Given the description of an element on the screen output the (x, y) to click on. 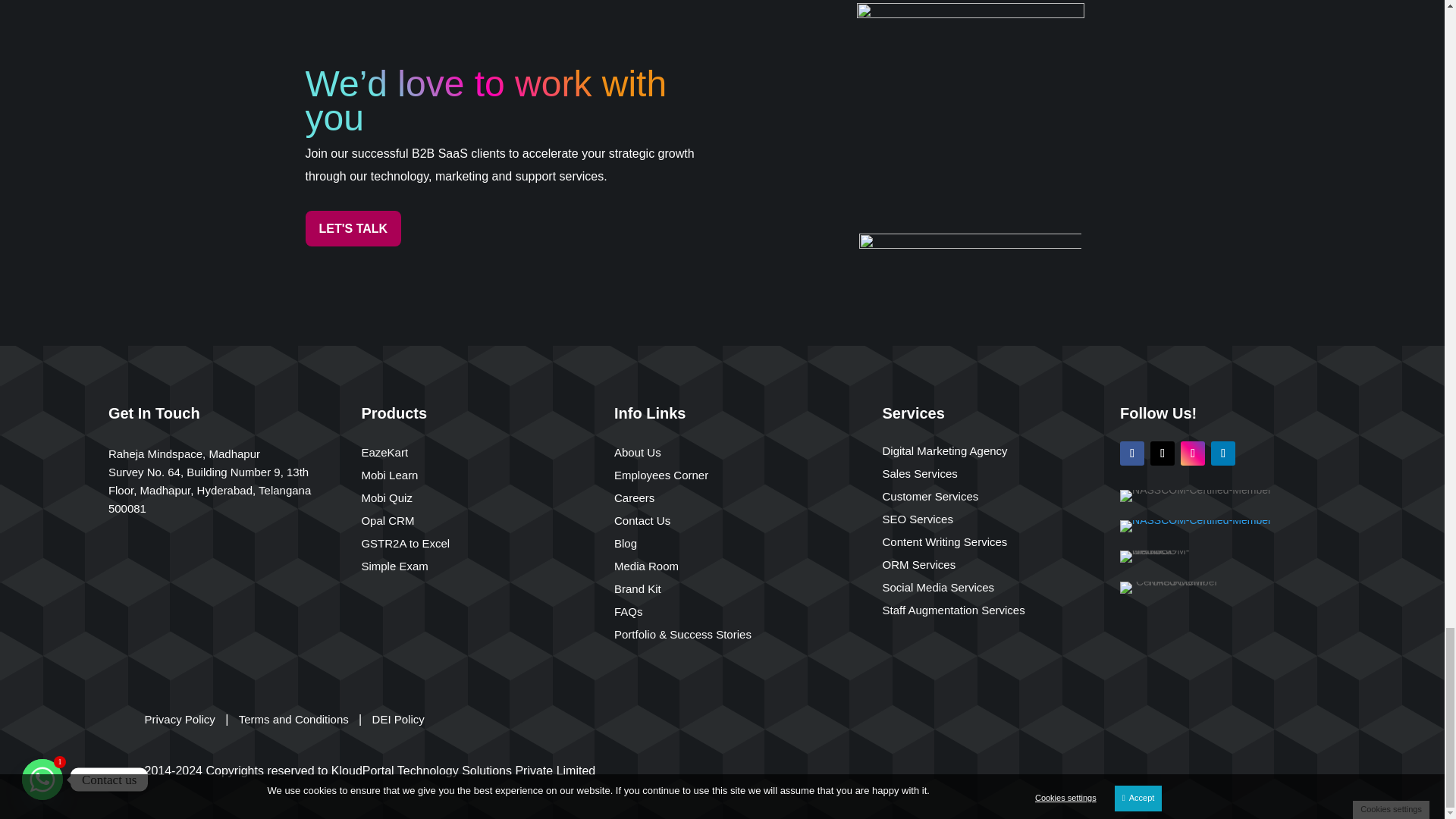
FAC-Signature (970, 259)
Follow on X (1162, 453)
NASSCOM-Certified-Member (1195, 495)
Follow on LinkedIn (1222, 453)
MSME-BW (1170, 587)
CMMI Level 3 Trans BG (1195, 526)
Prashanthi Kolluru - Founder - KloudPortal (970, 116)
Woman-Owned-Business-Badge (1165, 556)
Follow on Facebook (1131, 453)
Follow on Instagram (1192, 453)
